Given the description of an element on the screen output the (x, y) to click on. 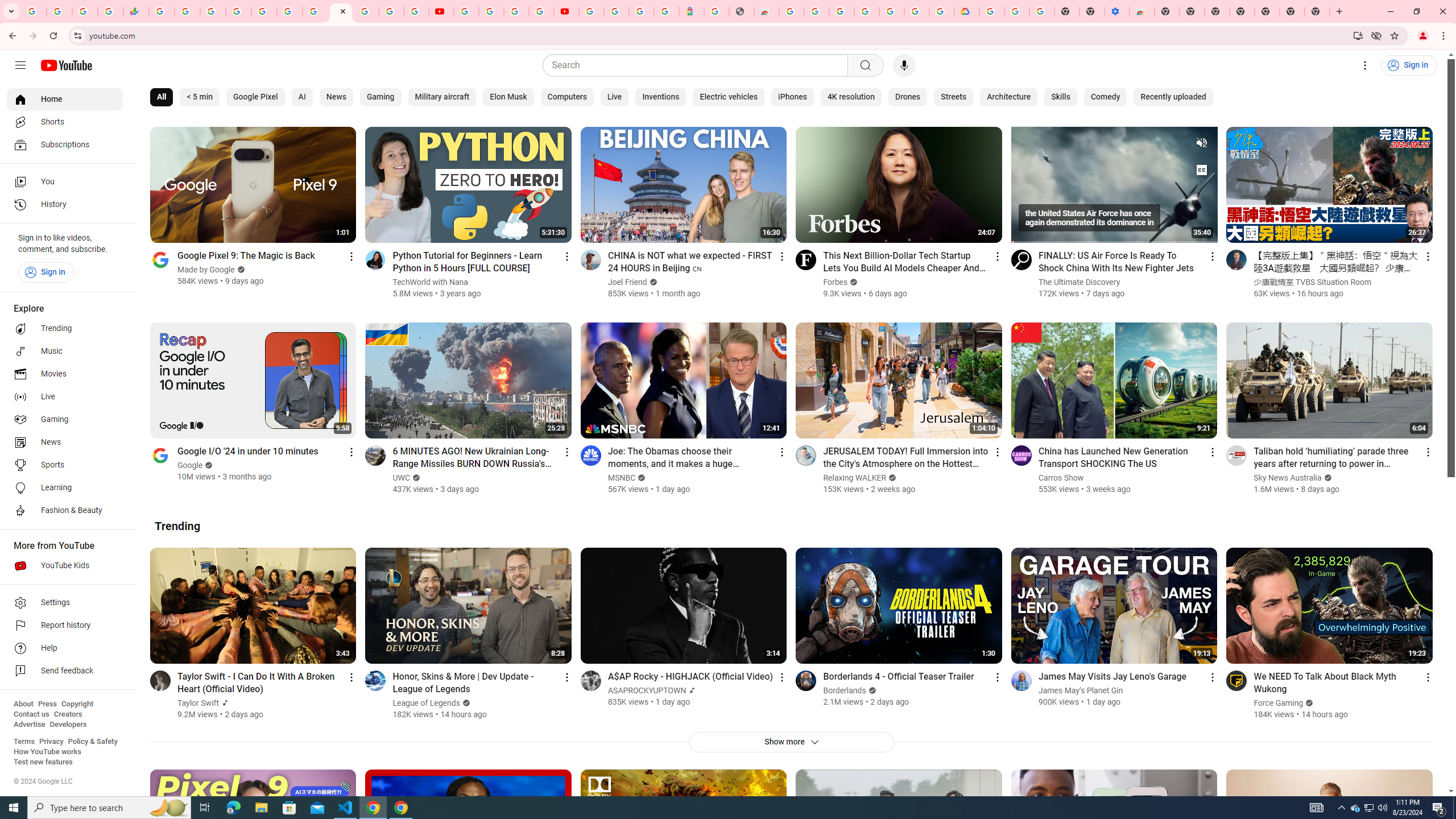
Test new features (42, 761)
Contact us (31, 714)
iPhones (792, 97)
TechWorld with Nana (430, 282)
Show more (790, 741)
Turn cookies on or off - Computer - Google Account Help (1042, 11)
Trending (177, 525)
